Given the description of an element on the screen output the (x, y) to click on. 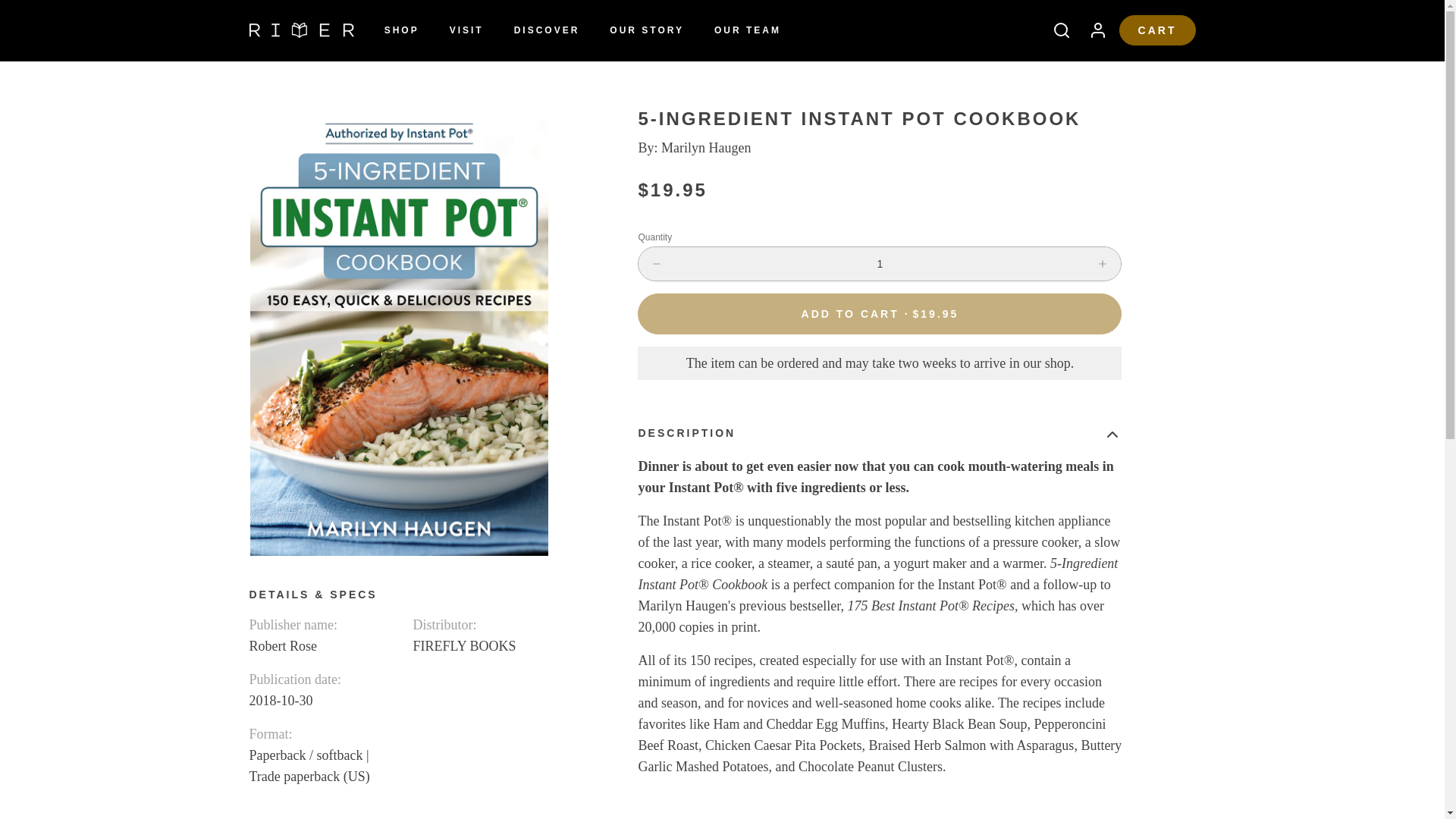
1 (879, 263)
River Bookshop (300, 29)
Increase quantity (1102, 263)
 Log in (1091, 30)
OUR STORY (645, 30)
Search (1055, 30)
DISCOVER (547, 30)
VISIT (467, 30)
CART (1157, 30)
SHOP (401, 30)
OUR TEAM (747, 30)
Decrease quantity (657, 263)
